Given the description of an element on the screen output the (x, y) to click on. 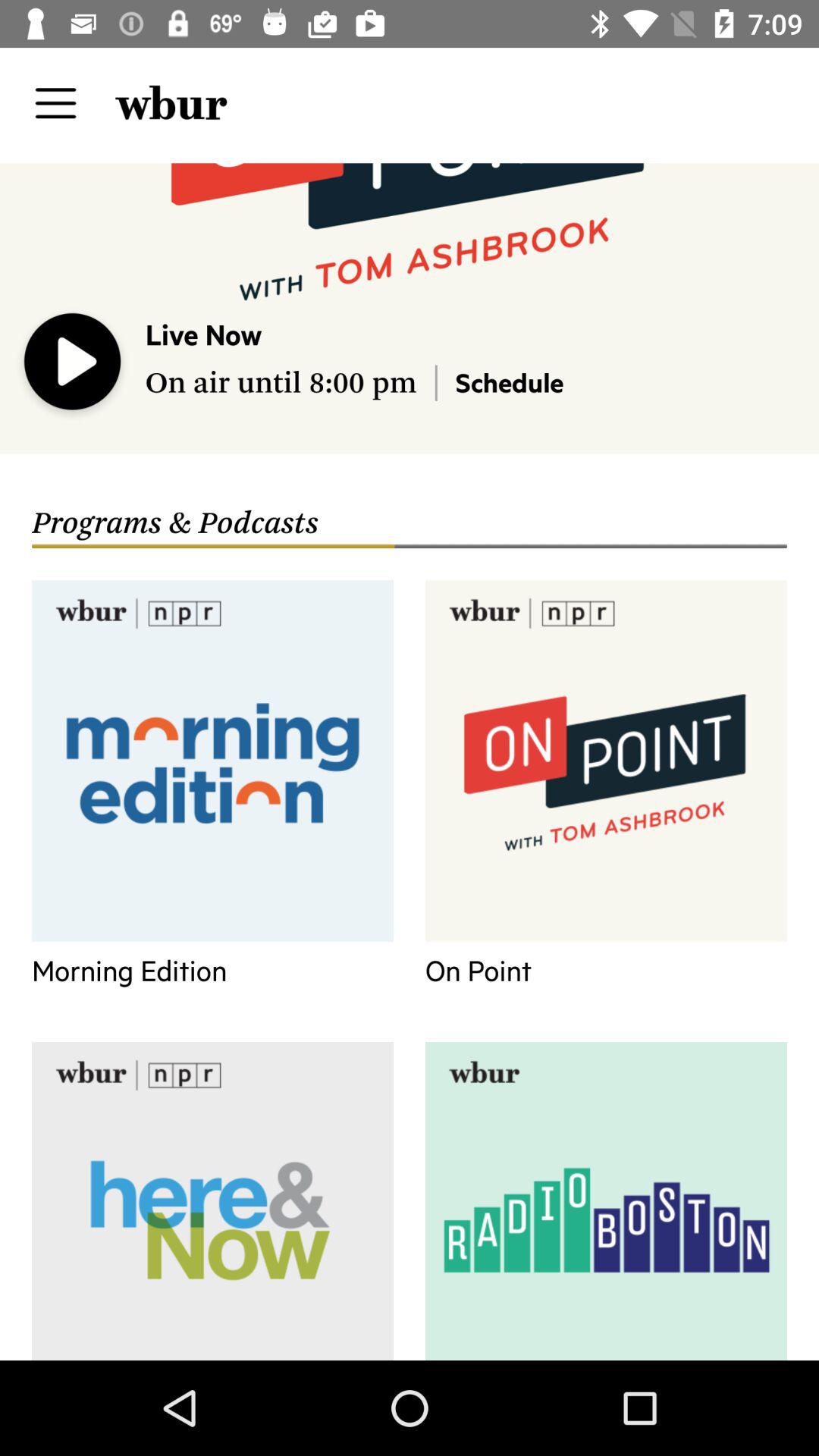
turn off the item next to live now icon (72, 365)
